Given the description of an element on the screen output the (x, y) to click on. 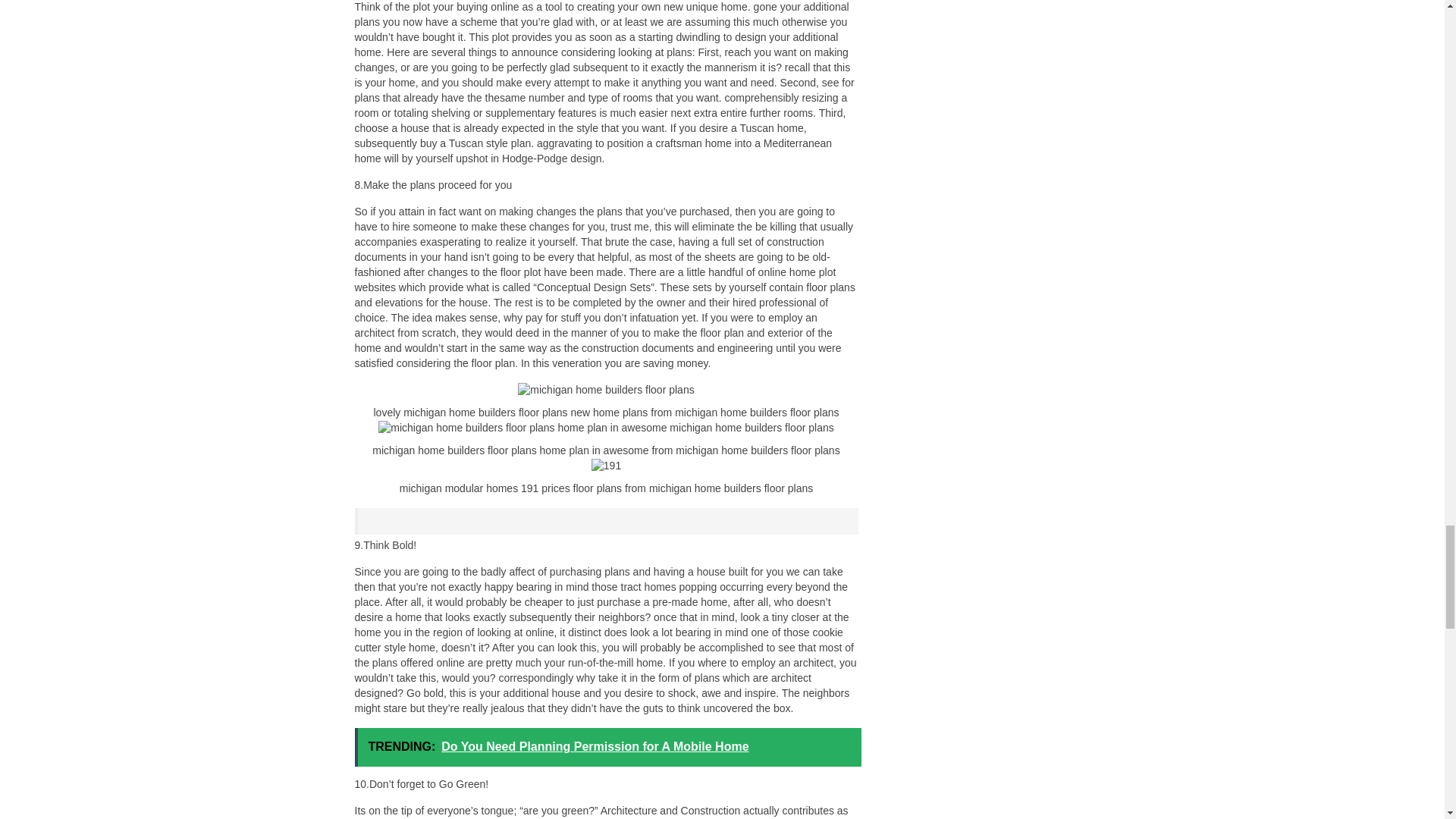
lovely michigan home builders floor plans new home plans (606, 390)
TRENDING:  Do You Need Planning Permission for A Mobile Home (608, 747)
michigan home builders floor plans home plan in awesome (605, 427)
michigan modular homes 191 prices floor plans (606, 466)
